Given the description of an element on the screen output the (x, y) to click on. 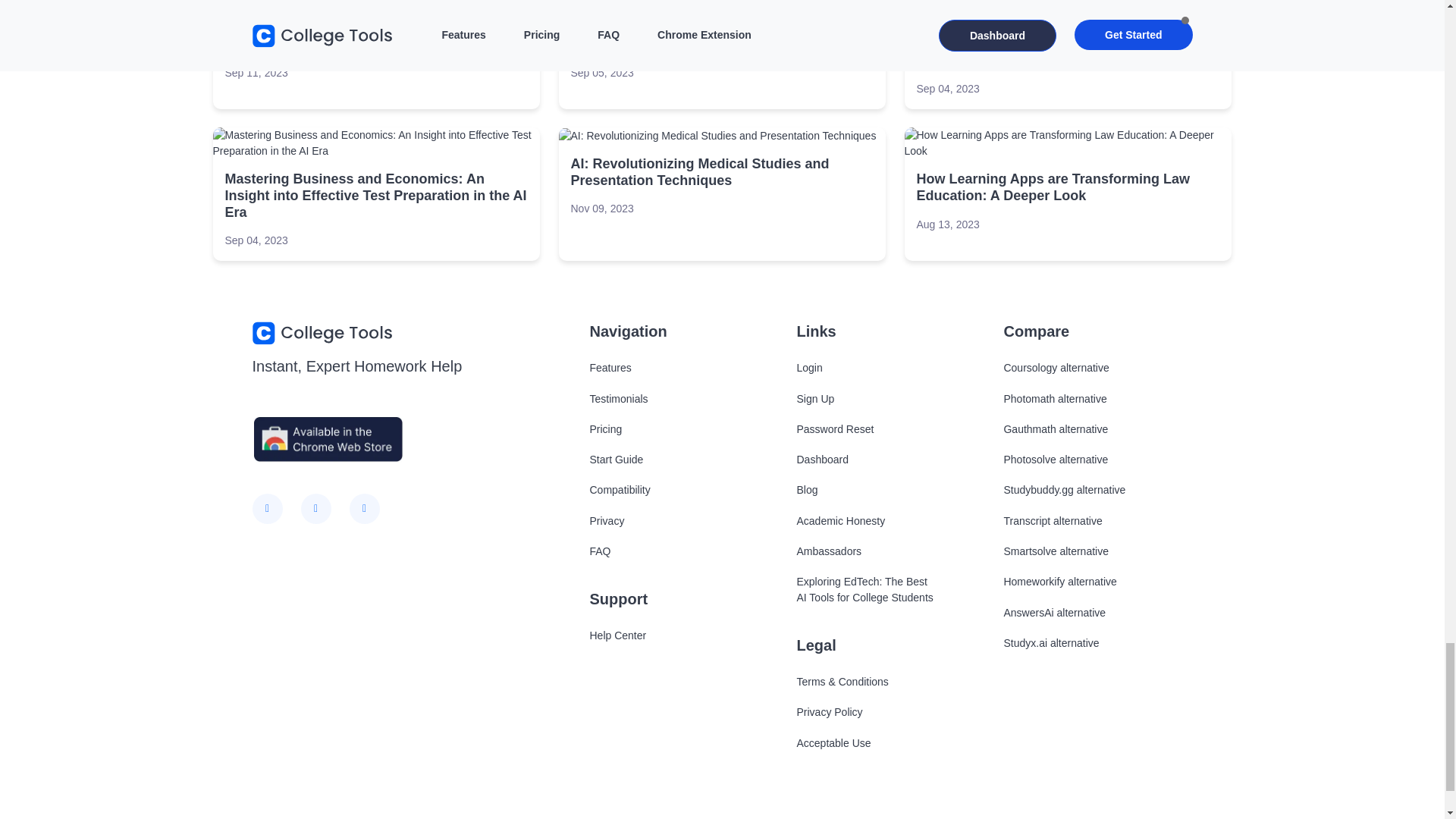
Features (610, 367)
Pricing (606, 428)
Start Guide (616, 459)
Testimonials (618, 398)
Compatibility (619, 490)
